Given the description of an element on the screen output the (x, y) to click on. 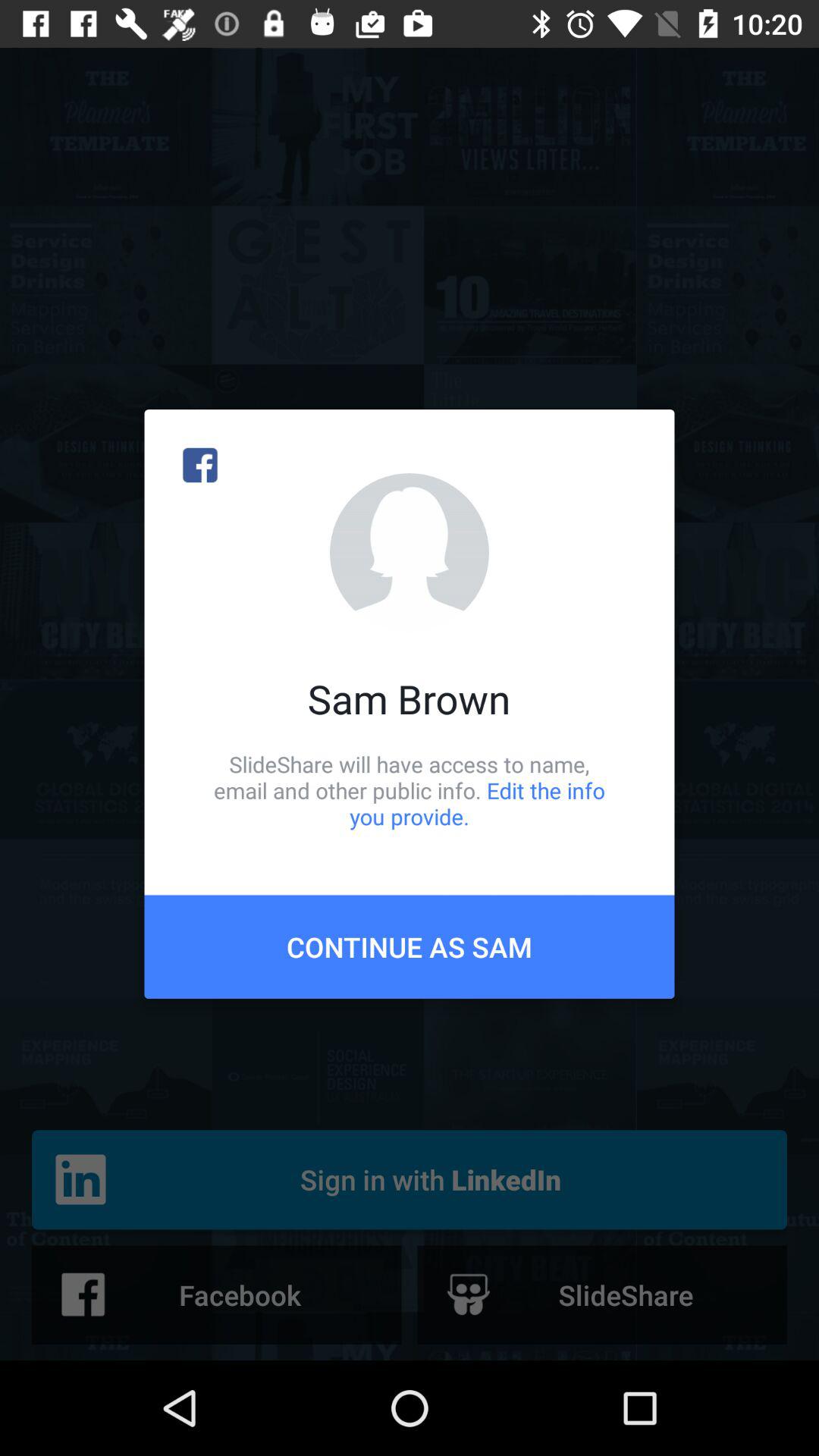
tap slideshare will have (409, 790)
